Given the description of an element on the screen output the (x, y) to click on. 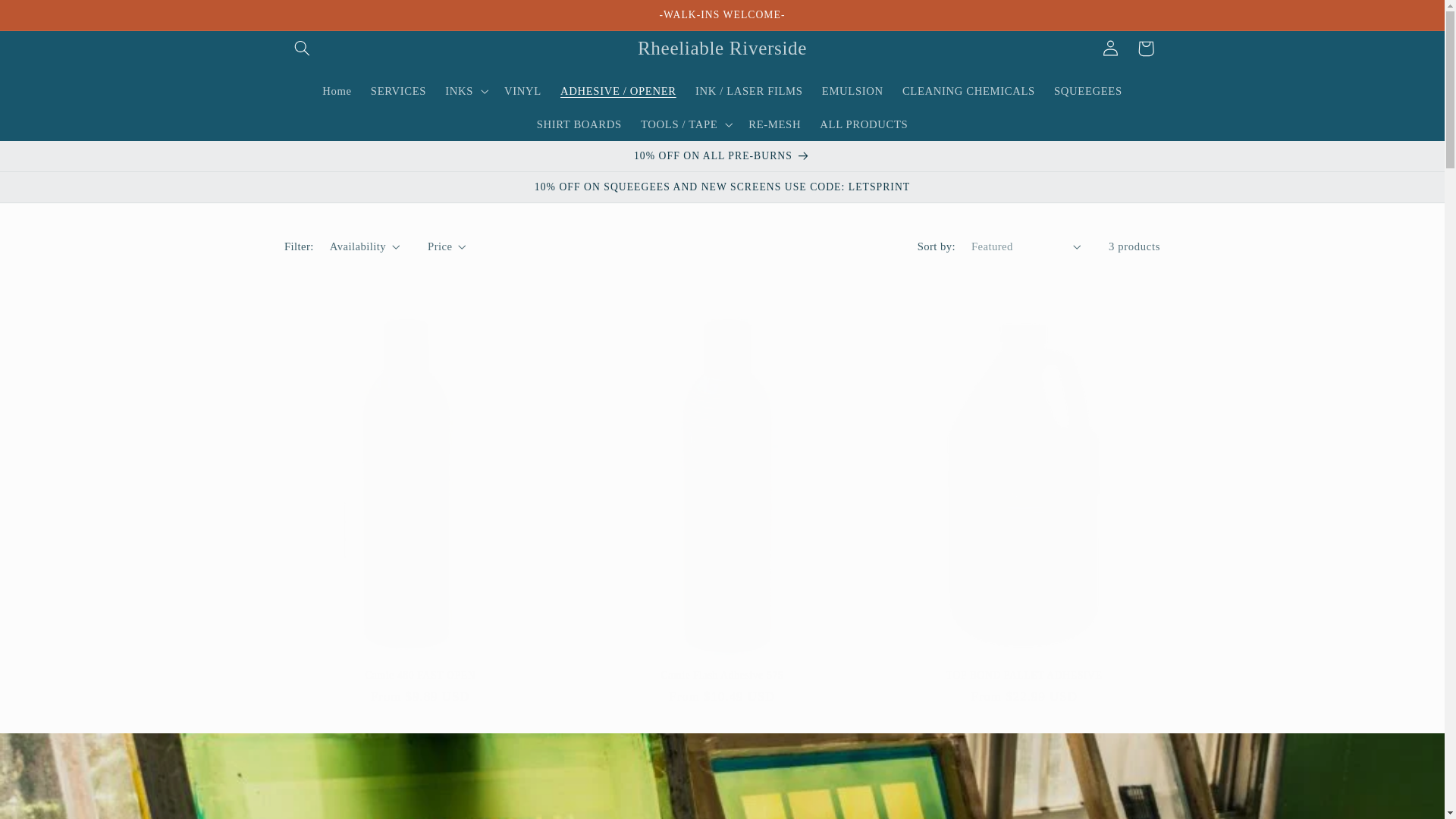
SQUEEGEES (1087, 90)
Rheeliable Riverside (721, 48)
Home (337, 90)
EMULSION (852, 90)
Skip to content (48, 18)
VINYL (522, 90)
SHIRT BOARDS (578, 123)
SERVICES (398, 90)
CLEANING CHEMICALS (967, 90)
